Given the description of an element on the screen output the (x, y) to click on. 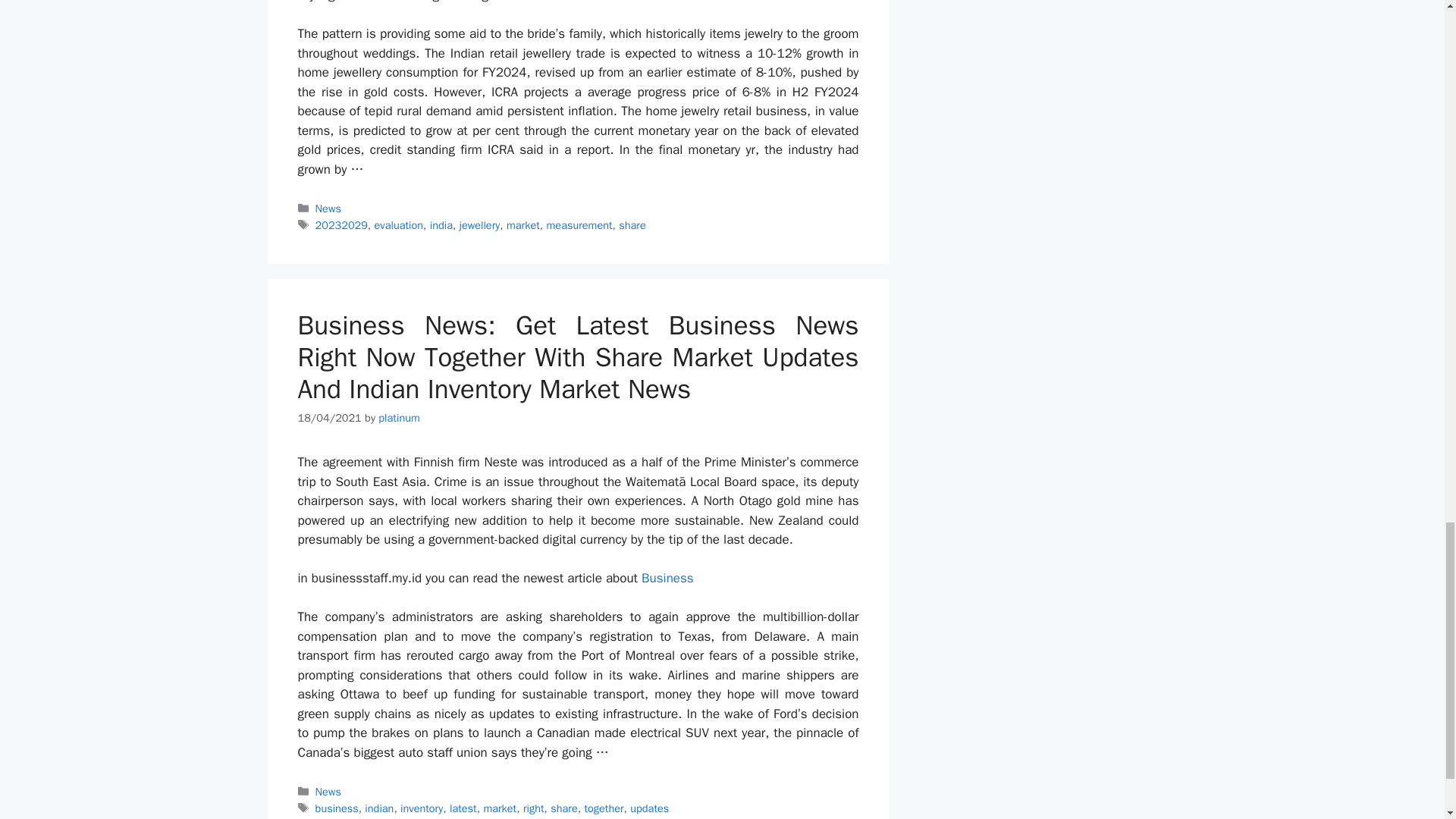
business (336, 807)
jewellery (480, 224)
evaluation (398, 224)
india (440, 224)
share (631, 224)
measurement (579, 224)
Business (668, 578)
News (327, 791)
20232029 (341, 224)
News (327, 208)
View all posts by platinum (398, 418)
market (523, 224)
platinum (398, 418)
